Given the description of an element on the screen output the (x, y) to click on. 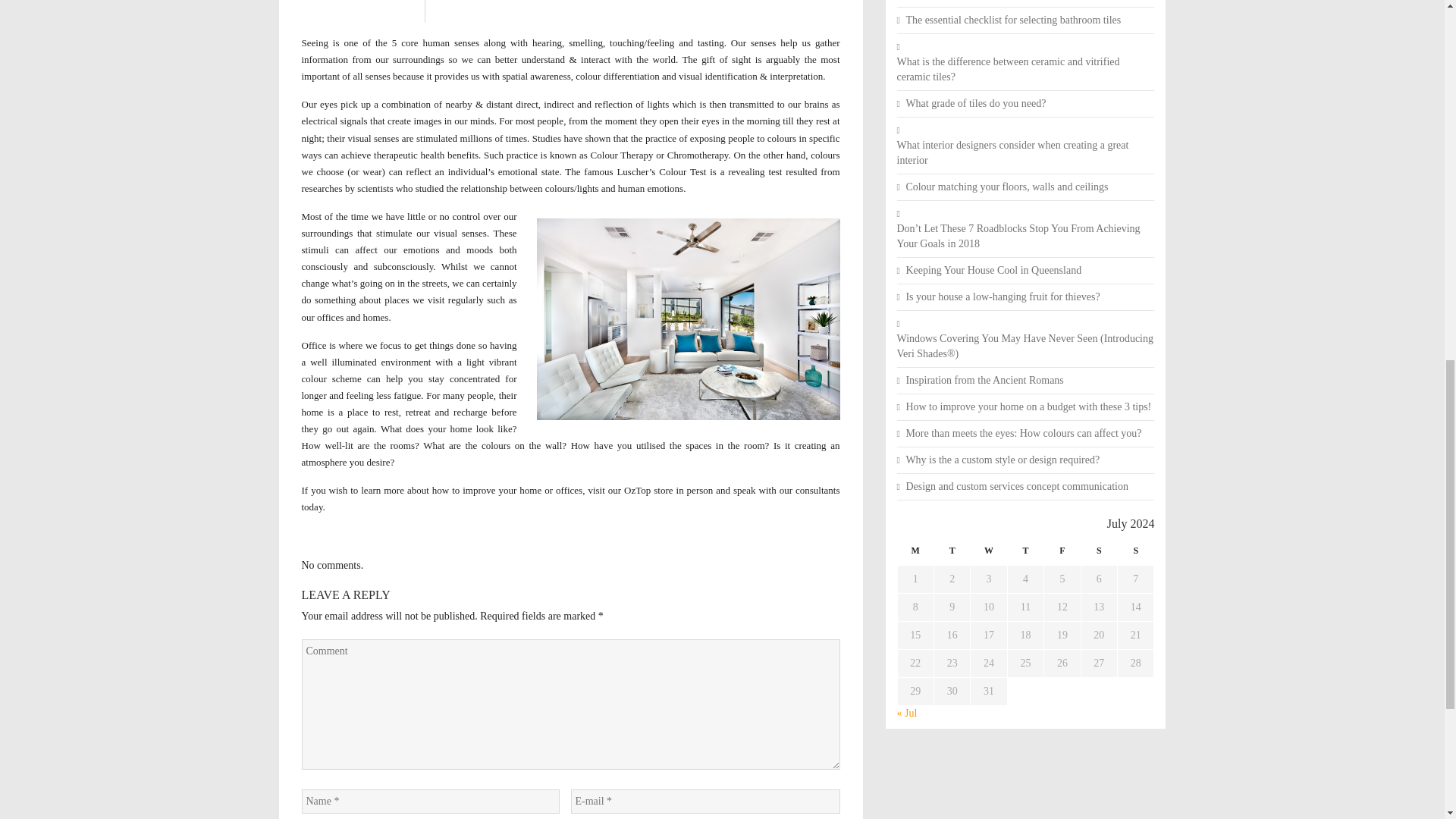
Monday (914, 554)
Saturday (1098, 554)
Tuesday (951, 554)
Sunday (1136, 554)
Friday (1061, 554)
Thursday (1025, 554)
Wednesday (989, 554)
